Given the description of an element on the screen output the (x, y) to click on. 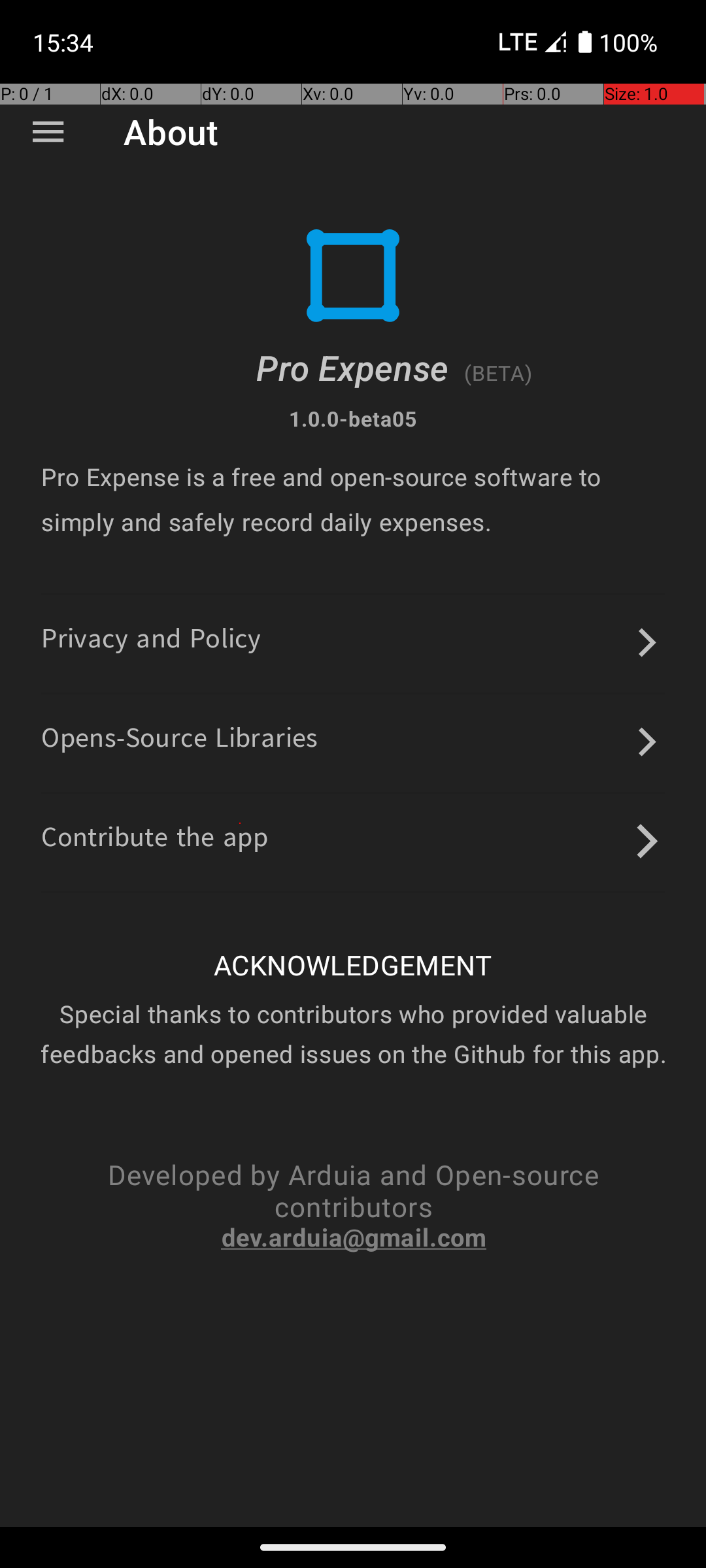
(BETA) Element type: android.widget.TextView (497, 372)
1.0.0-beta05 Element type: android.widget.TextView (352, 418)
Pro Expense is a free and open-source software to simply and safely record daily expenses. Element type: android.widget.TextView (352, 498)
ACKNOWLEDGEMENT Element type: android.widget.TextView (352, 964)
Special thanks to contributors who provided valuable feedbacks and opened issues on the Github for this app. Element type: android.widget.TextView (352, 1033)
Developed by Arduia and Open-source contributors
dev.arduia@gmail.com Element type: android.widget.TextView (352, 1204)
Privacy and Policy Element type: android.widget.TextView (151, 642)
Opens-Source Libraries Element type: android.widget.TextView (179, 741)
Contribute the app Element type: android.widget.TextView (154, 841)
